Given the description of an element on the screen output the (x, y) to click on. 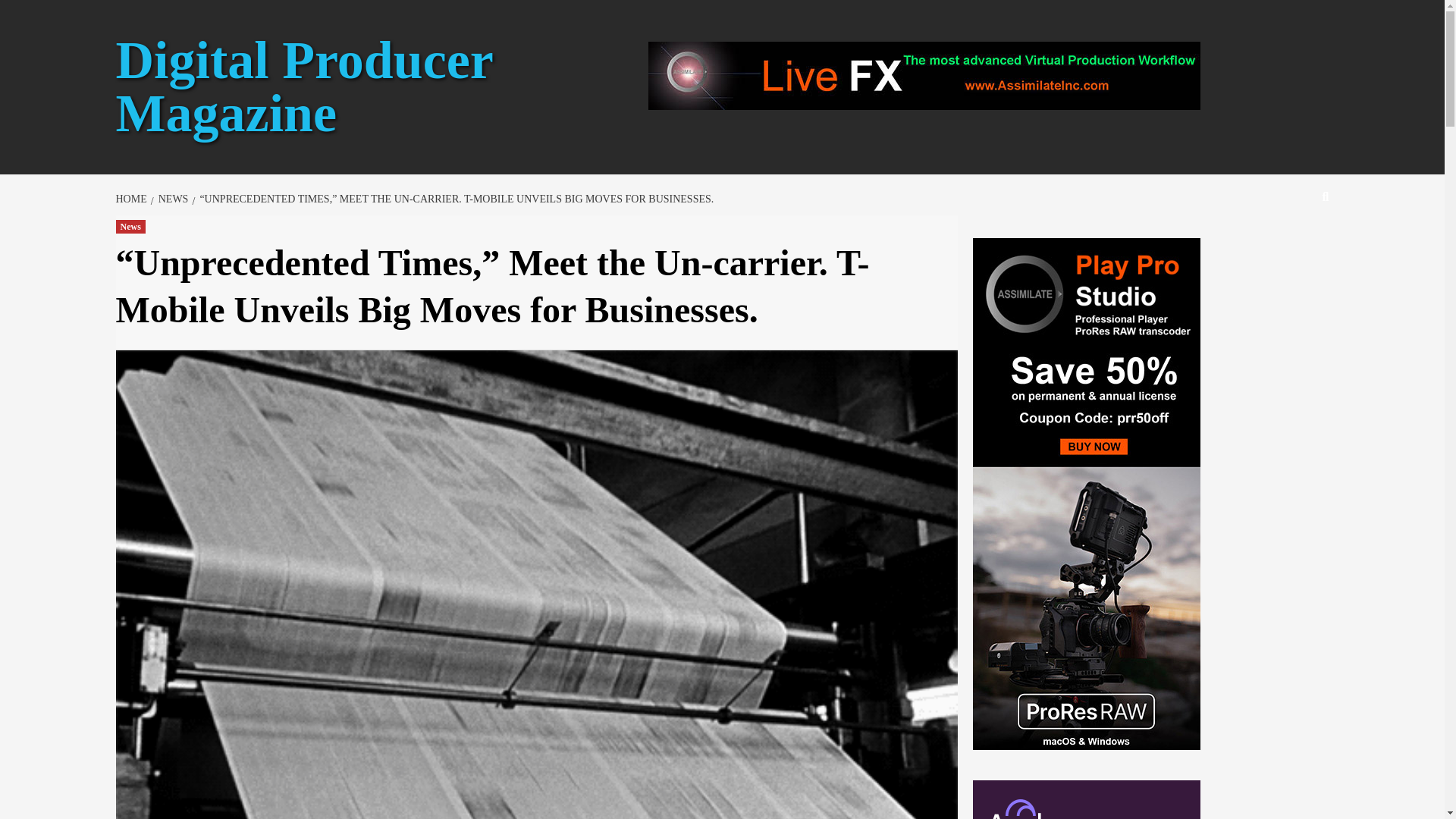
HOME (132, 198)
Digital Producer Magazine (303, 86)
News (129, 226)
NEWS (171, 198)
